Given the description of an element on the screen output the (x, y) to click on. 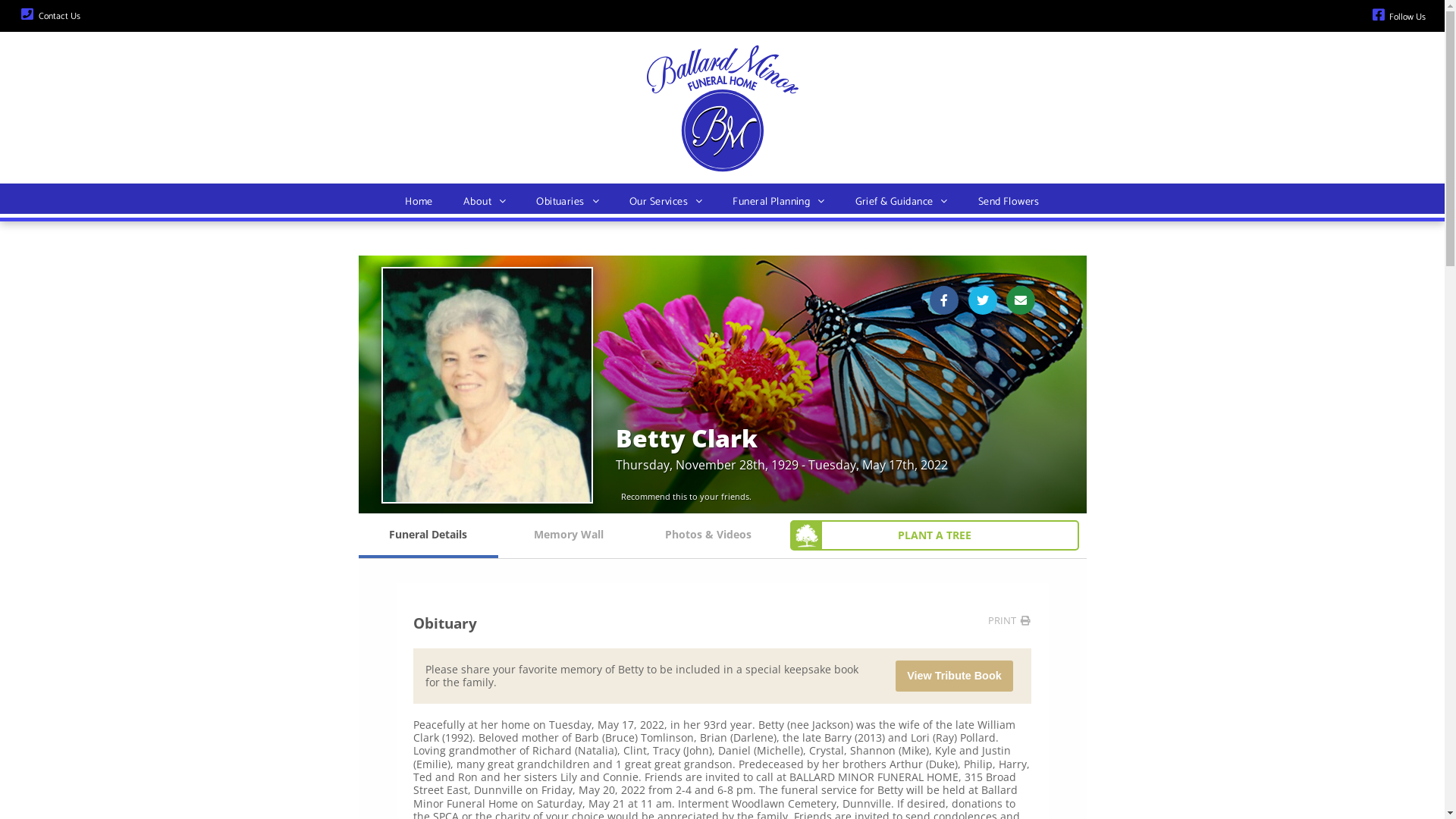
Contact Us Element type: text (58, 16)
View Tribute Book Element type: text (954, 675)
Funeral Details Element type: text (427, 534)
Obituaries Element type: text (567, 202)
Photos & Videos Element type: text (708, 534)
Send Flowers Element type: text (1008, 202)
PLANT A TREE Element type: text (934, 535)
PRINT Element type: text (1002, 620)
Funeral Planning Element type: text (778, 202)
Home Element type: text (418, 202)
Grief & Guidance Element type: text (901, 202)
About Element type: text (484, 202)
Memory Wall Element type: text (568, 534)
Follow Us Element type: text (1407, 16)
Our Services Element type: text (665, 202)
